Given the description of an element on the screen output the (x, y) to click on. 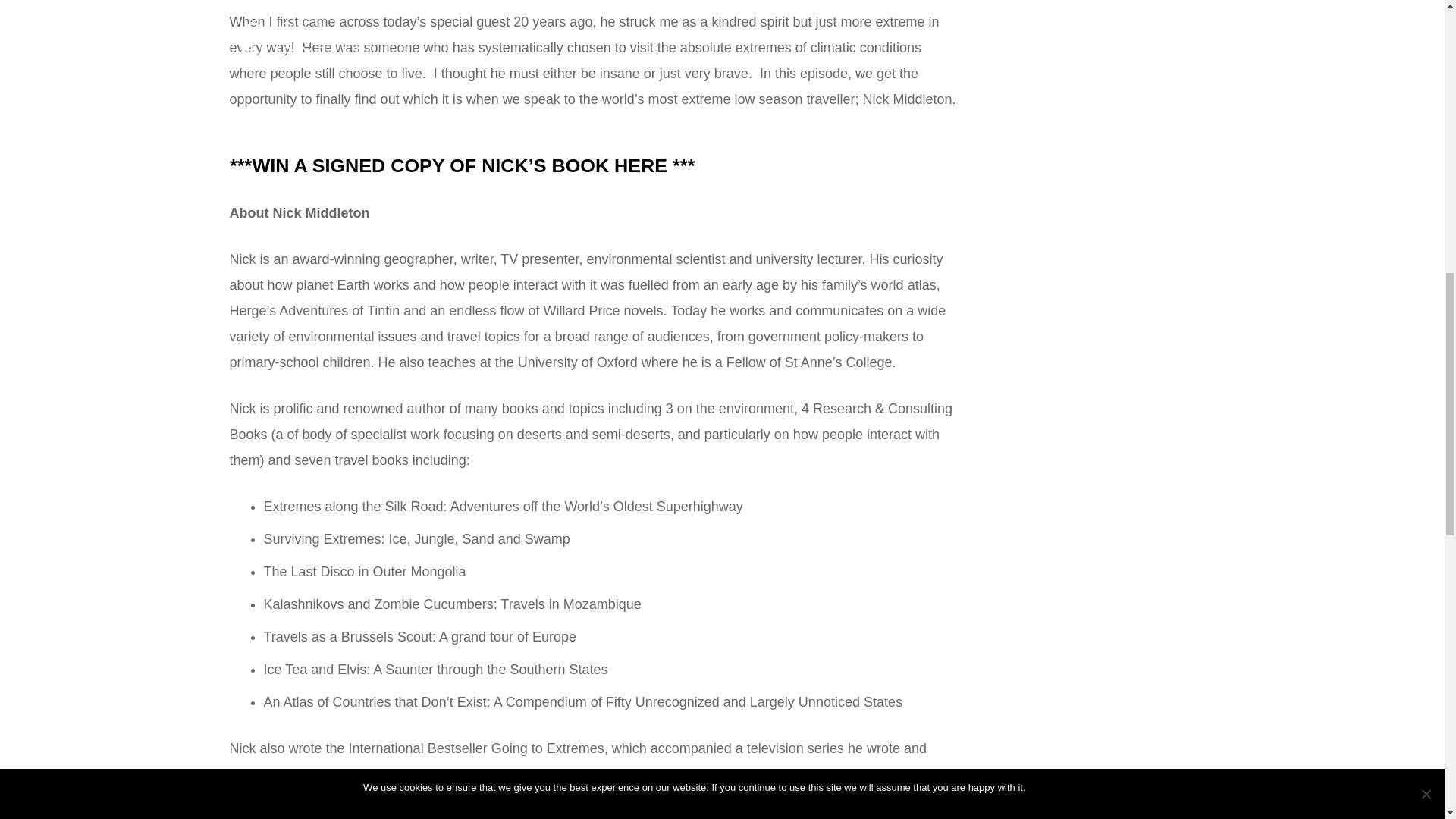
Back to top (1413, 37)
